Given the description of an element on the screen output the (x, y) to click on. 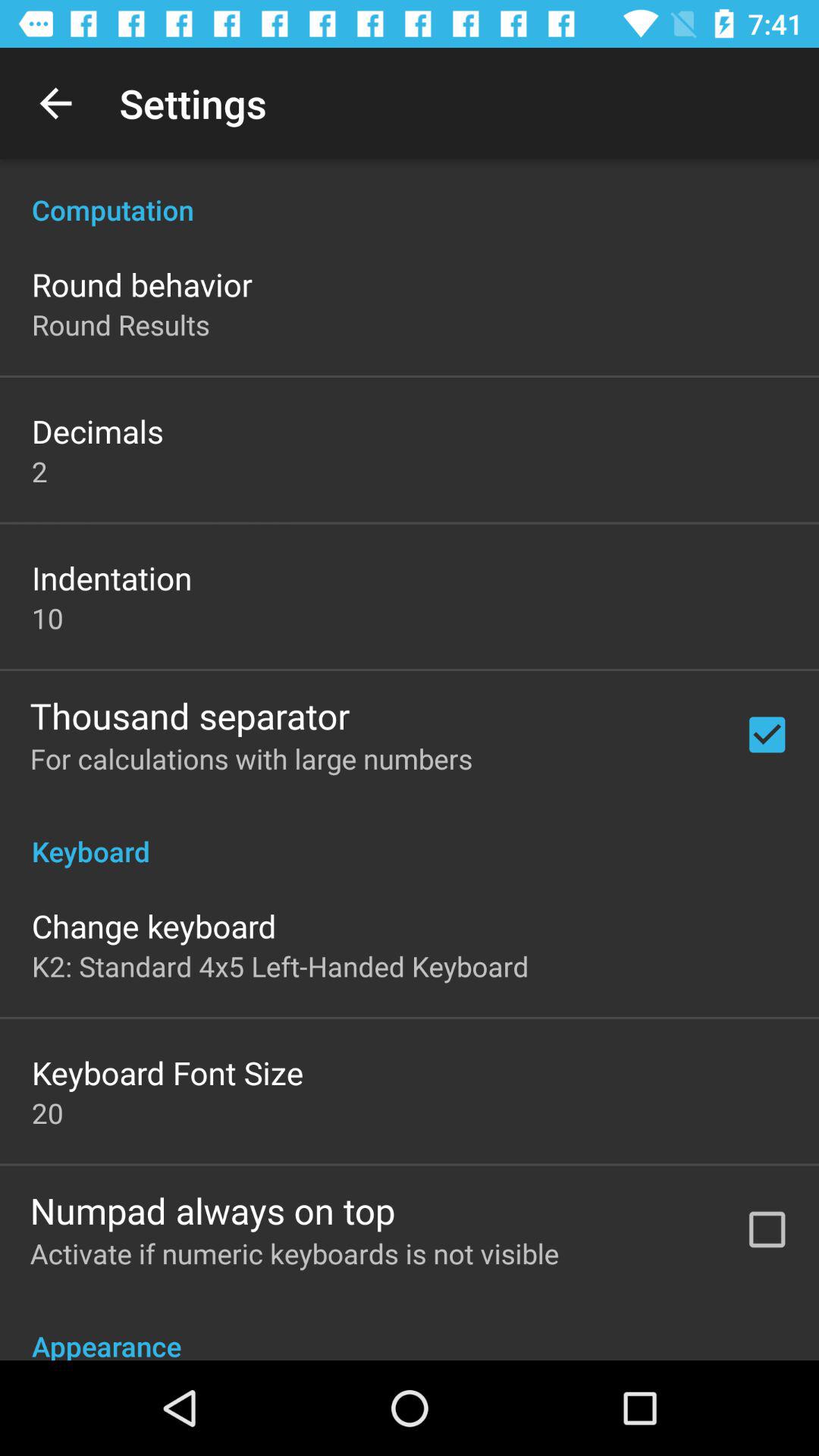
launch item above thousand separator item (47, 618)
